Given the description of an element on the screen output the (x, y) to click on. 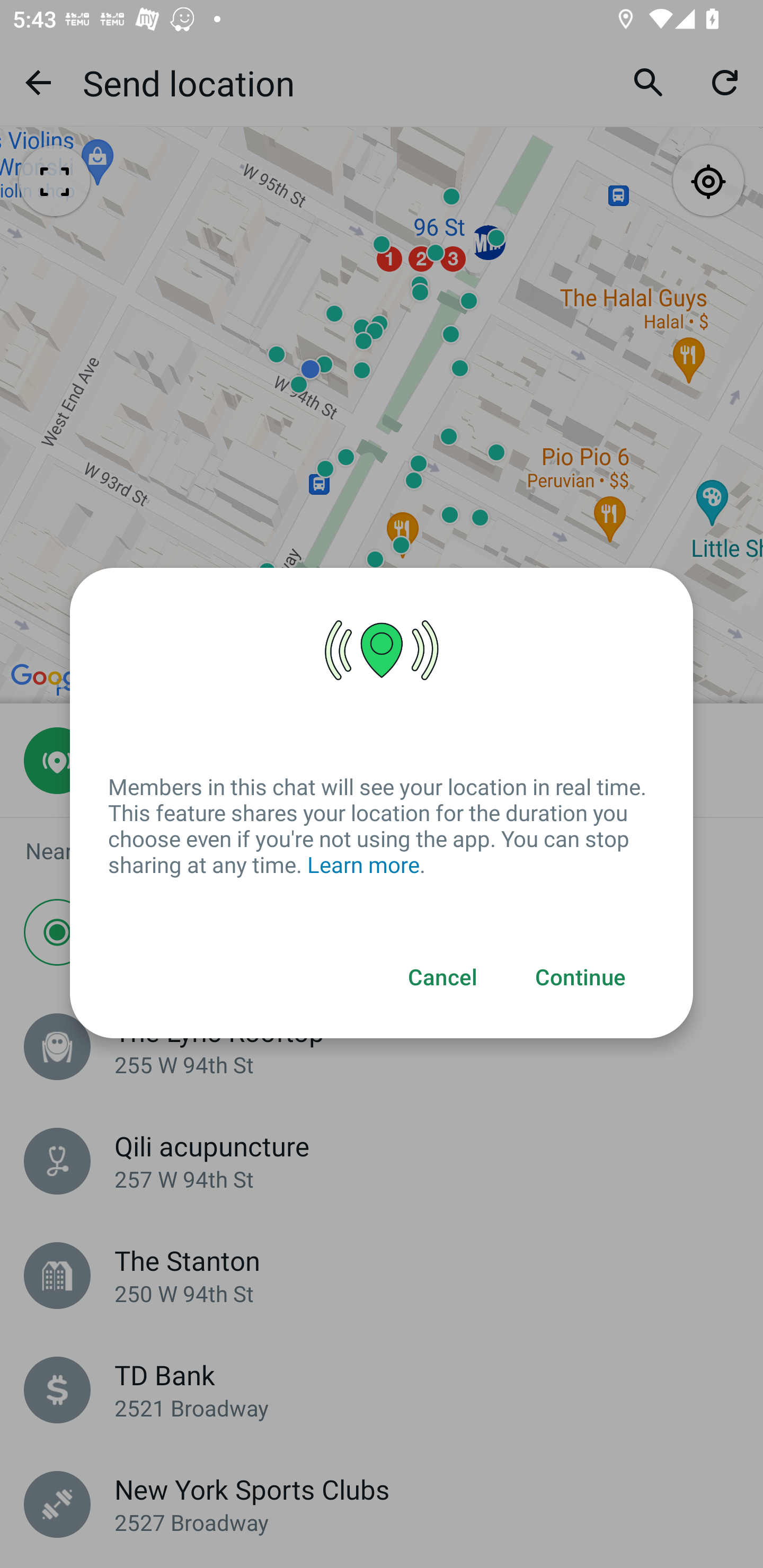
Learn more (362, 865)
Cancel (442, 977)
Continue (580, 977)
